Given the description of an element on the screen output the (x, y) to click on. 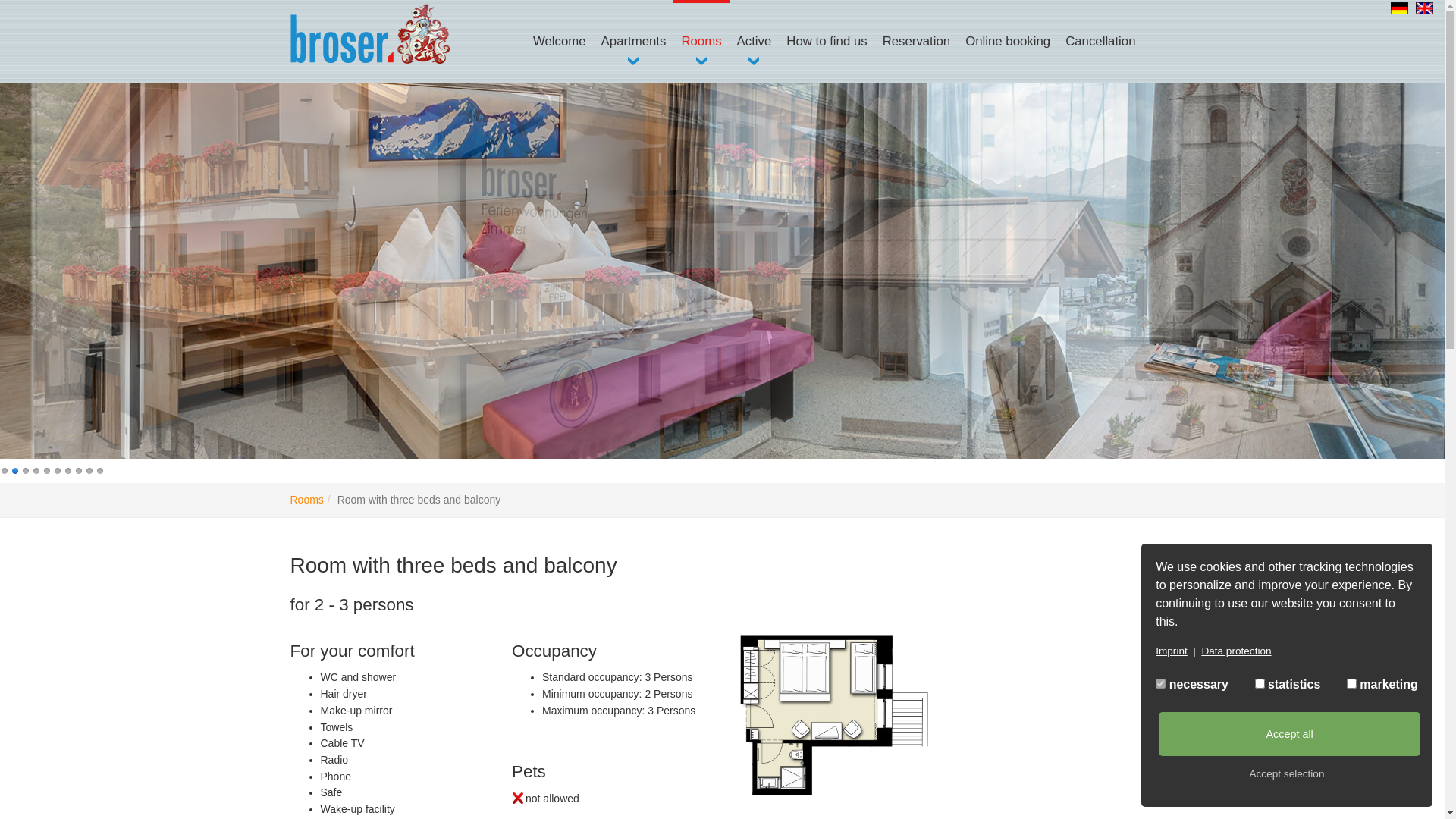
Welcome Element type: text (559, 41)
Rooms Element type: text (306, 499)
Cancellation Element type: text (1099, 41)
10 Element type: text (100, 469)
Deutsch Element type: hover (1399, 8)
Data protection Element type: text (1235, 650)
Active Element type: text (754, 41)
Imprint Element type: text (1171, 650)
7 Element type: text (68, 469)
5 Element type: text (47, 469)
4 Element type: text (36, 469)
Online booking Element type: text (1007, 41)
3 Element type: text (26, 469)
Accept all Element type: text (1289, 734)
How to find us Element type: text (826, 41)
1 Element type: text (5, 469)
9 Element type: text (90, 469)
6 Element type: text (58, 469)
8 Element type: text (79, 469)
Accept selection Element type: text (1286, 774)
Rooms Element type: text (700, 41)
2 Element type: text (15, 469)
Apartments Element type: text (633, 41)
Reservation Element type: text (916, 41)
English Element type: hover (1424, 8)
